Given the description of an element on the screen output the (x, y) to click on. 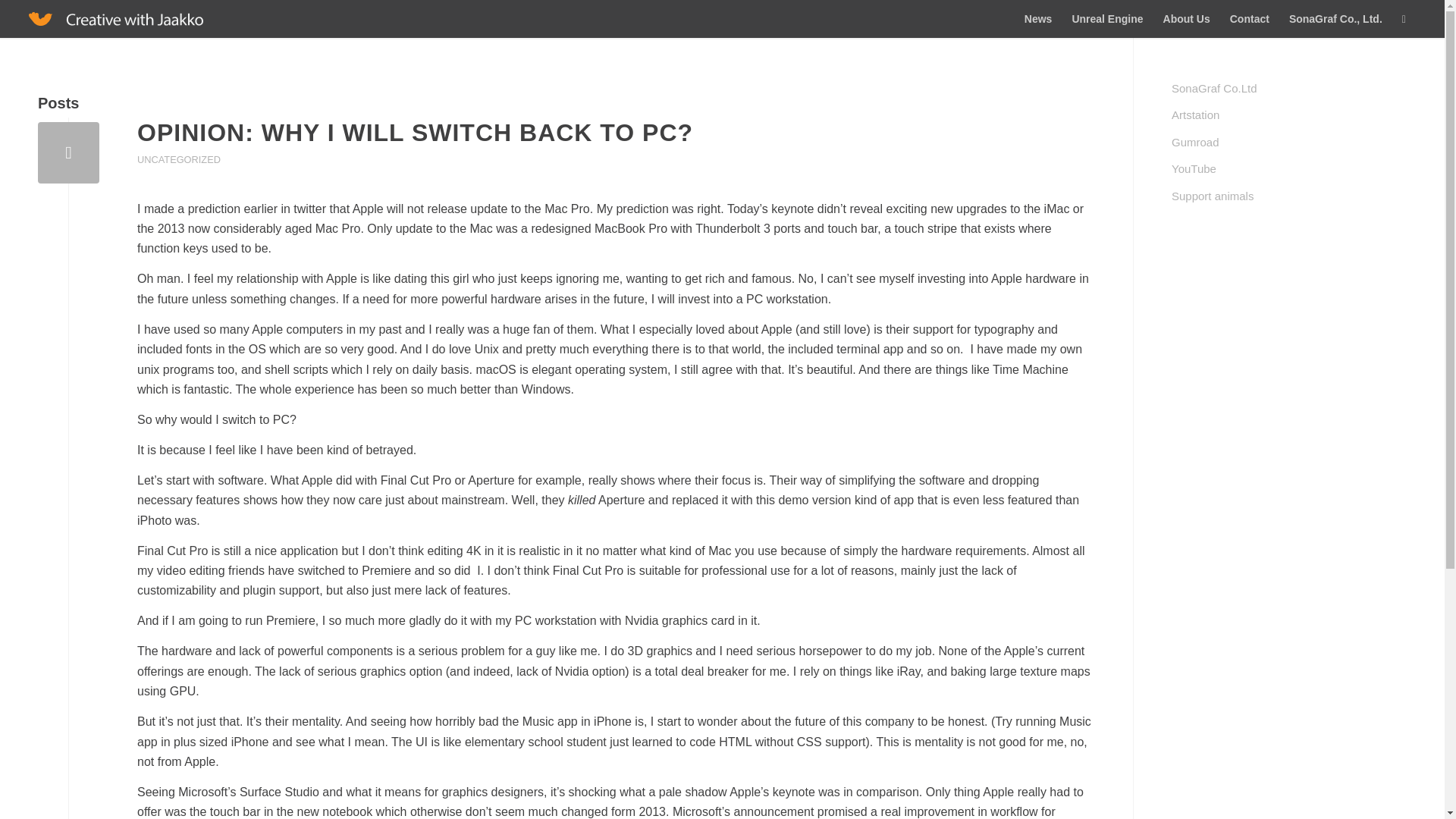
UNCATEGORIZED (178, 159)
SonaGraf Co., Ltd. (1335, 18)
YouTube (1289, 169)
Unreal Engine (1107, 18)
Gumroad (1289, 142)
OPINION: WHY I WILL SWITCH BACK TO PC? (414, 132)
Contact (1249, 18)
Artstation (1289, 115)
Permanent Link: Opinion: Why I will switch back to PC? (414, 132)
SonaGraf Co.Ltd (1289, 89)
